Given the description of an element on the screen output the (x, y) to click on. 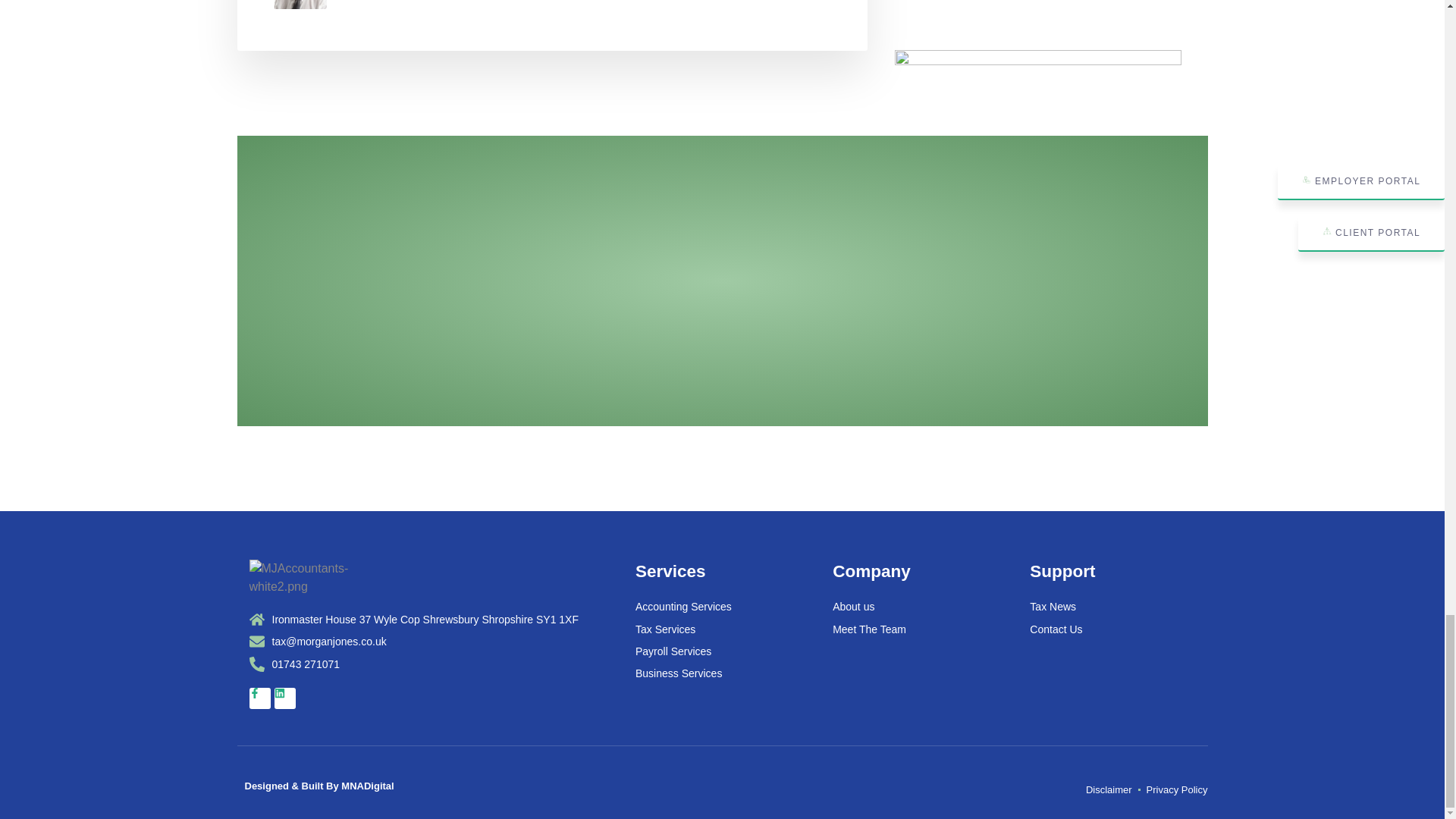
MJAccountants-white2.png (327, 577)
